Given the description of an element on the screen output the (x, y) to click on. 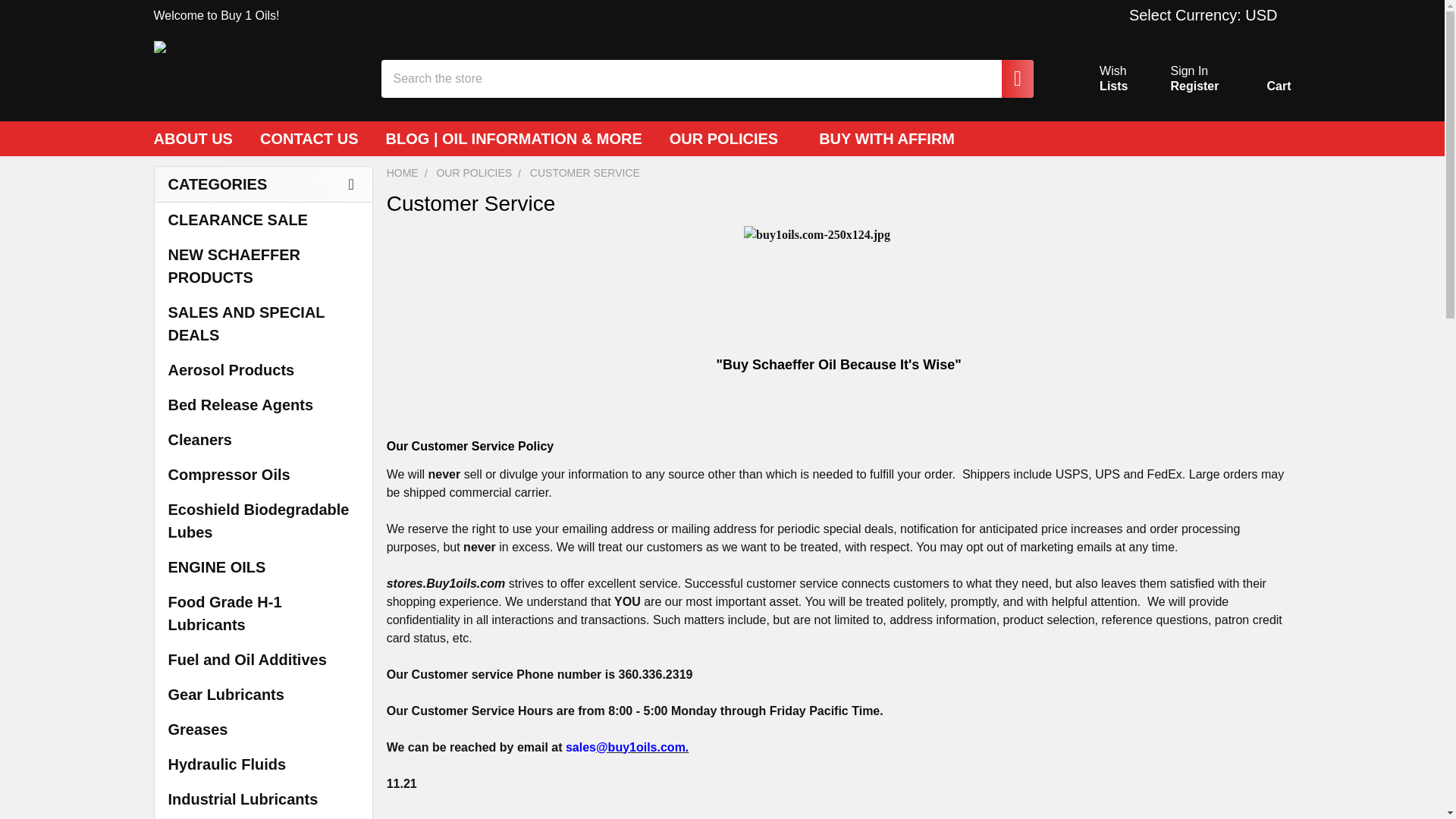
Cart (1260, 82)
Search (1010, 78)
Search (1010, 78)
Sign In (1205, 15)
Wish Lists (1189, 70)
buy1oils.com-250x124.jpg (1095, 78)
Register (838, 273)
Cart (1194, 86)
